Given the description of an element on the screen output the (x, y) to click on. 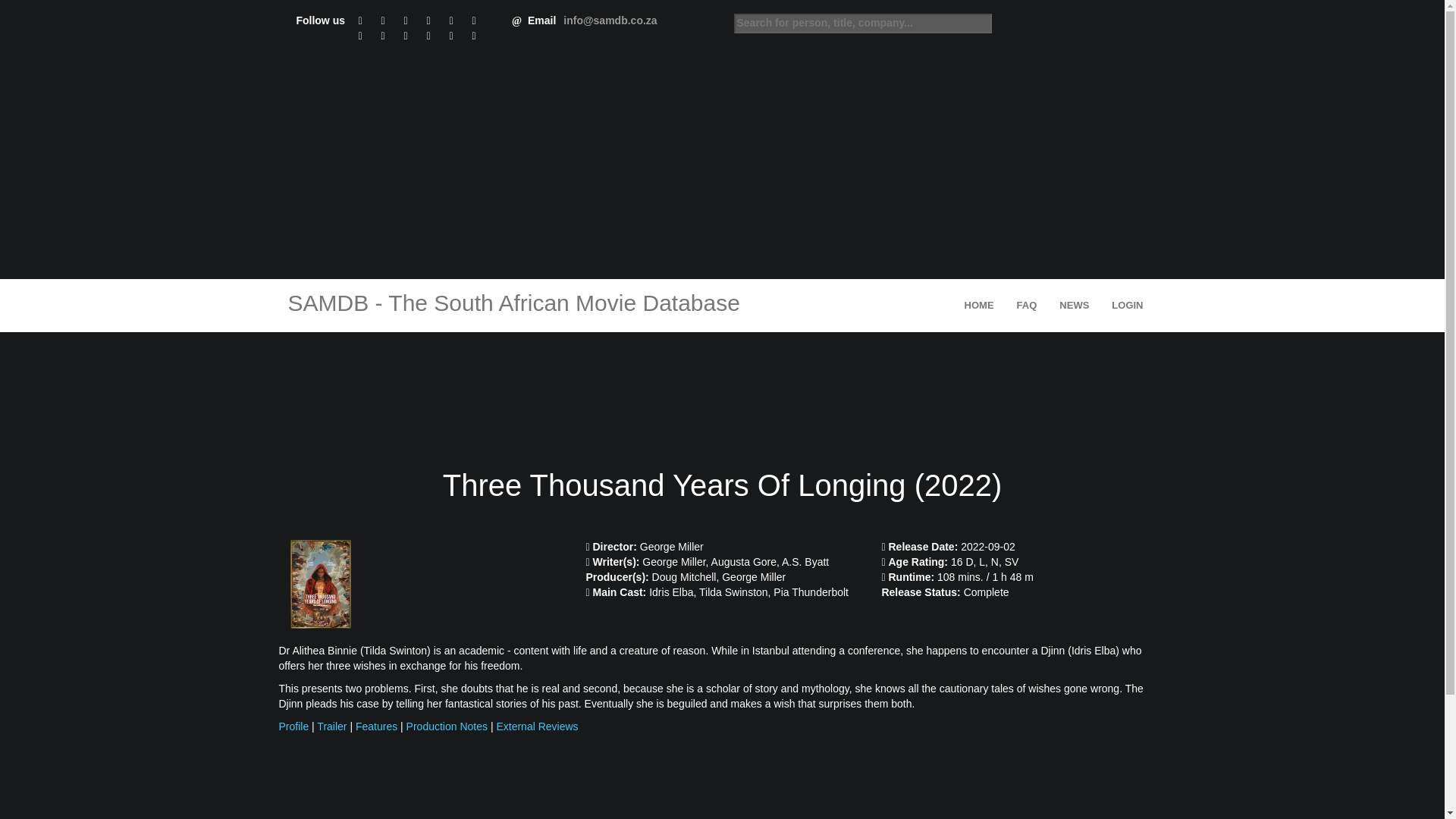
LOGIN (1127, 305)
Features (376, 726)
External Reviews (537, 726)
NEWS (1074, 305)
SAMDB - The South African Movie Database (509, 305)
Trailer (331, 726)
Production Notes (446, 726)
Profile (293, 726)
HOME (979, 305)
